Given the description of an element on the screen output the (x, y) to click on. 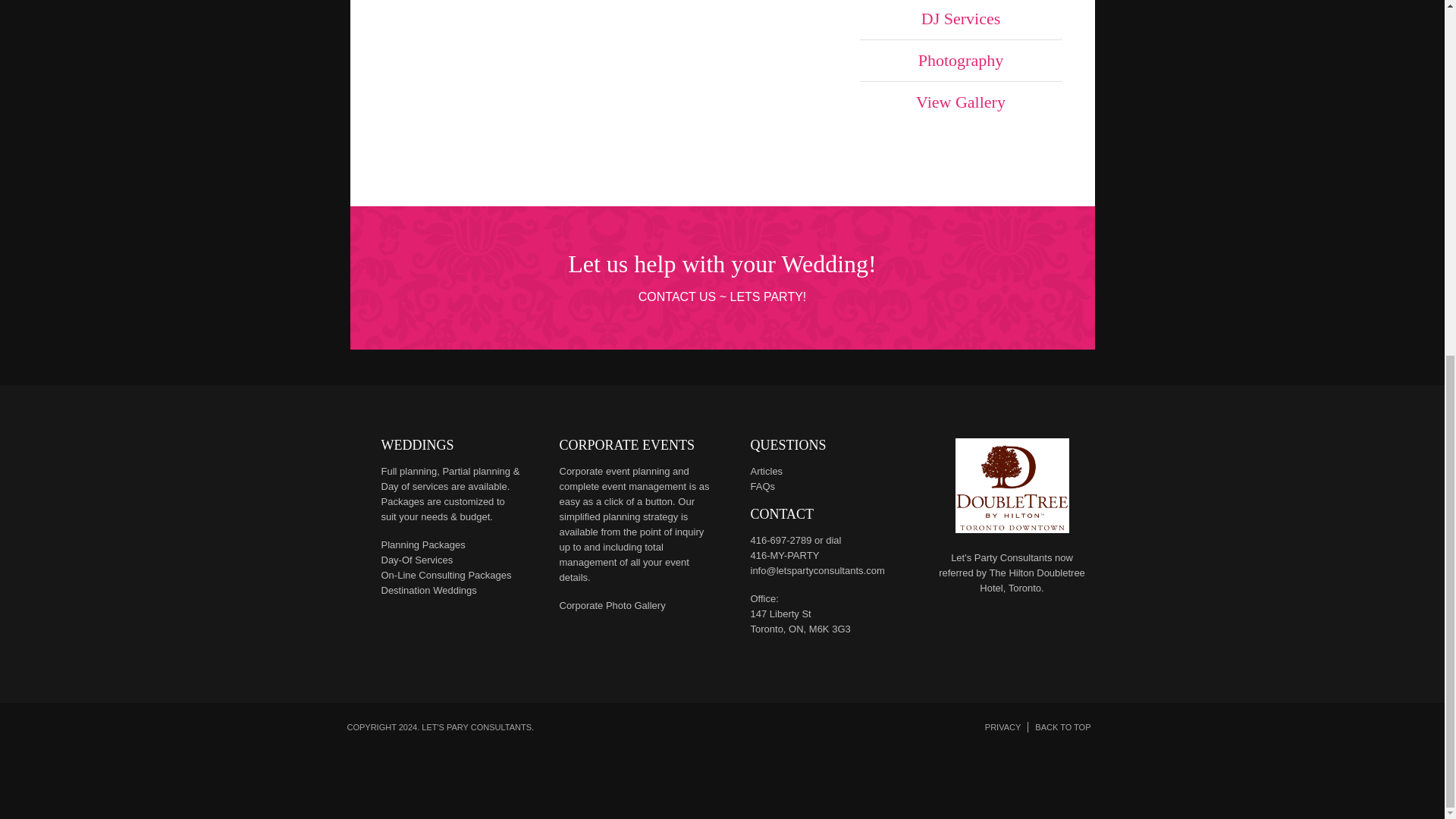
Day-Of Services (416, 559)
Photography (961, 60)
DJ Services (961, 20)
Planning Packages (422, 544)
View Gallery (961, 101)
On-Line Consulting Packages (445, 574)
